Given the description of an element on the screen output the (x, y) to click on. 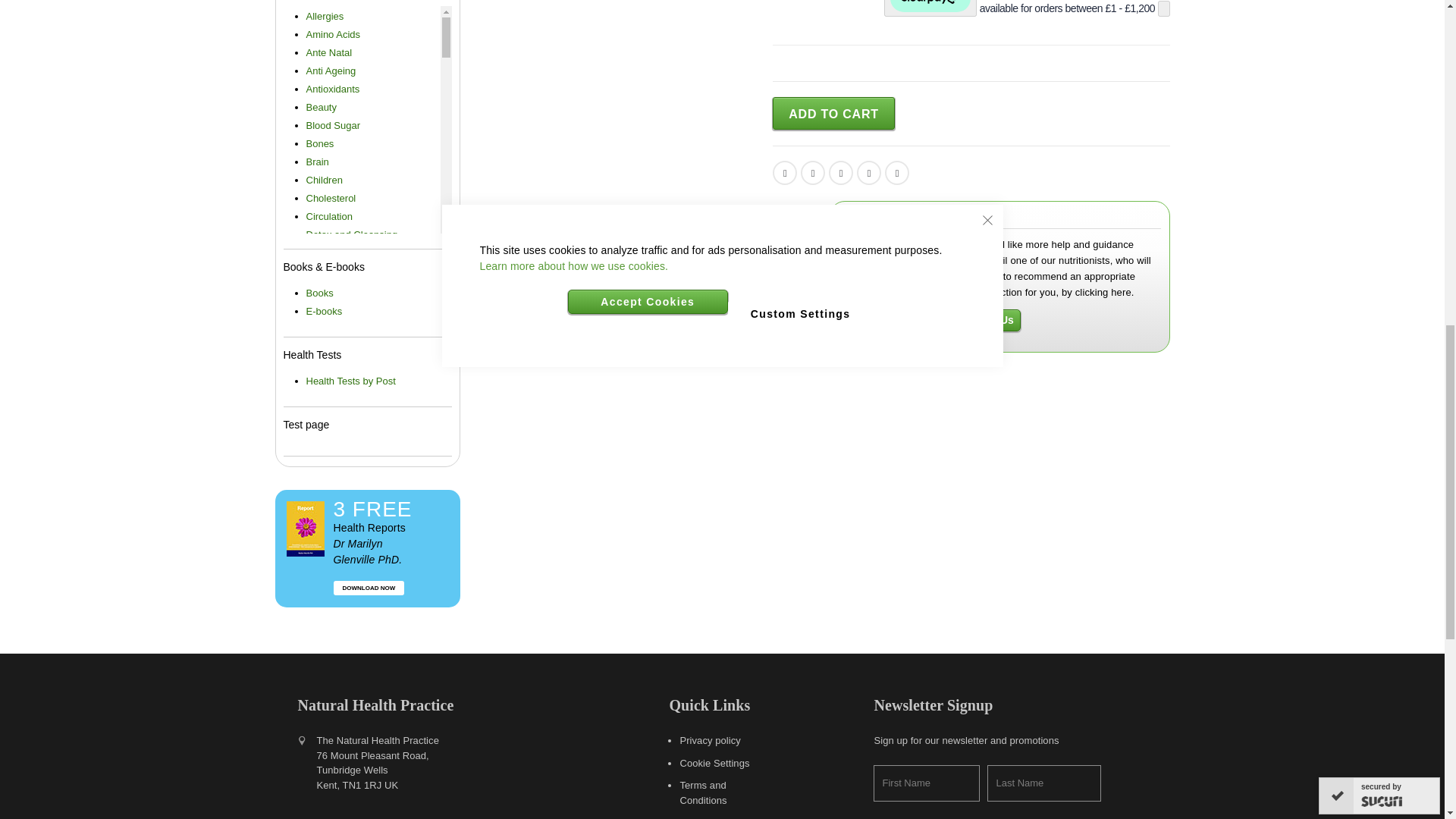
Customer reviews powered by Trustpilot (612, 4)
Add to Cart (834, 113)
